Given the description of an element on the screen output the (x, y) to click on. 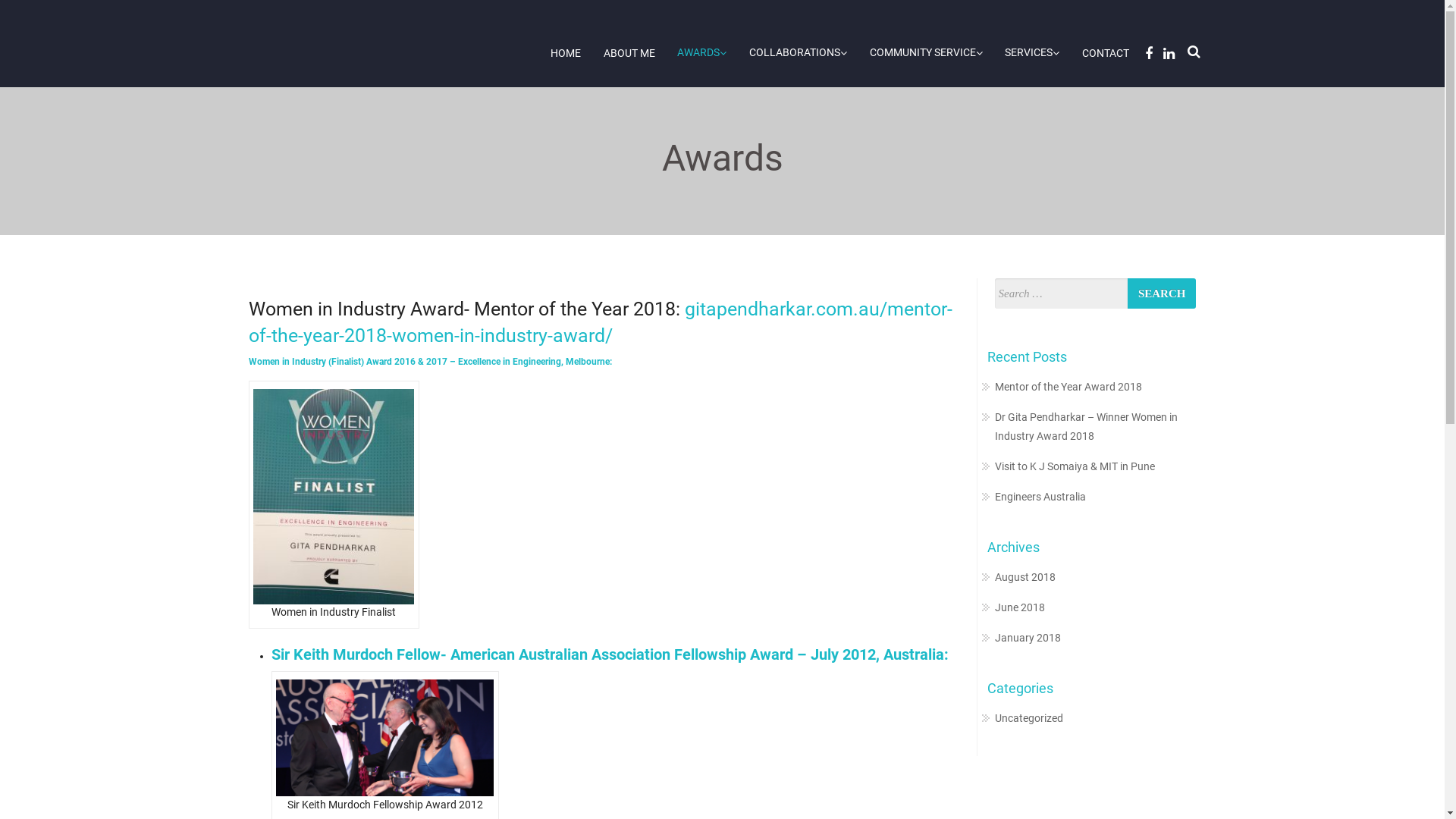
Mentor of the Year Award 2018 Element type: text (1068, 386)
January 2018 Element type: text (1027, 637)
Visit to K J Somaiya & MIT in Pune Element type: text (1074, 466)
COMMUNITY SERVICE Element type: text (925, 52)
ABOUT ME Element type: text (629, 52)
Uncategorized Element type: text (1028, 718)
Search Element type: text (1161, 293)
facebook Element type: hover (1146, 53)
Search Element type: text (858, 422)
SERVICES Element type: text (1031, 52)
Engineers Australia Element type: text (1039, 496)
linkedin  Element type: hover (1166, 53)
AWARDS Element type: text (702, 52)
HOME Element type: text (565, 52)
COLLABORATIONS Element type: text (797, 52)
June 2018 Element type: text (1019, 607)
CONTACT Element type: text (1105, 52)
Gita Pendharkar Element type: text (365, 32)
August 2018 Element type: text (1024, 577)
